Given the description of an element on the screen output the (x, y) to click on. 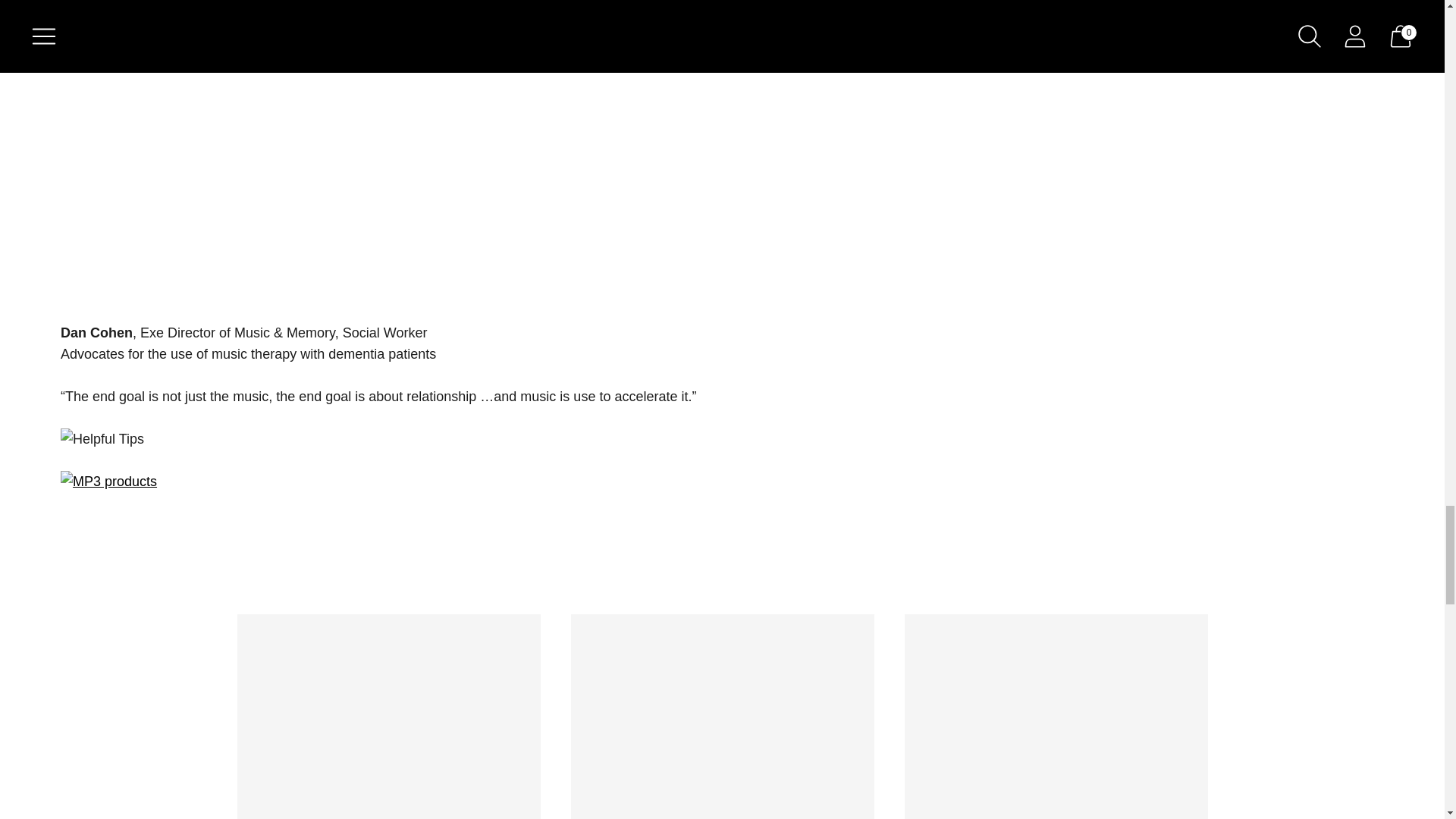
MP3 products (722, 481)
